Given the description of an element on the screen output the (x, y) to click on. 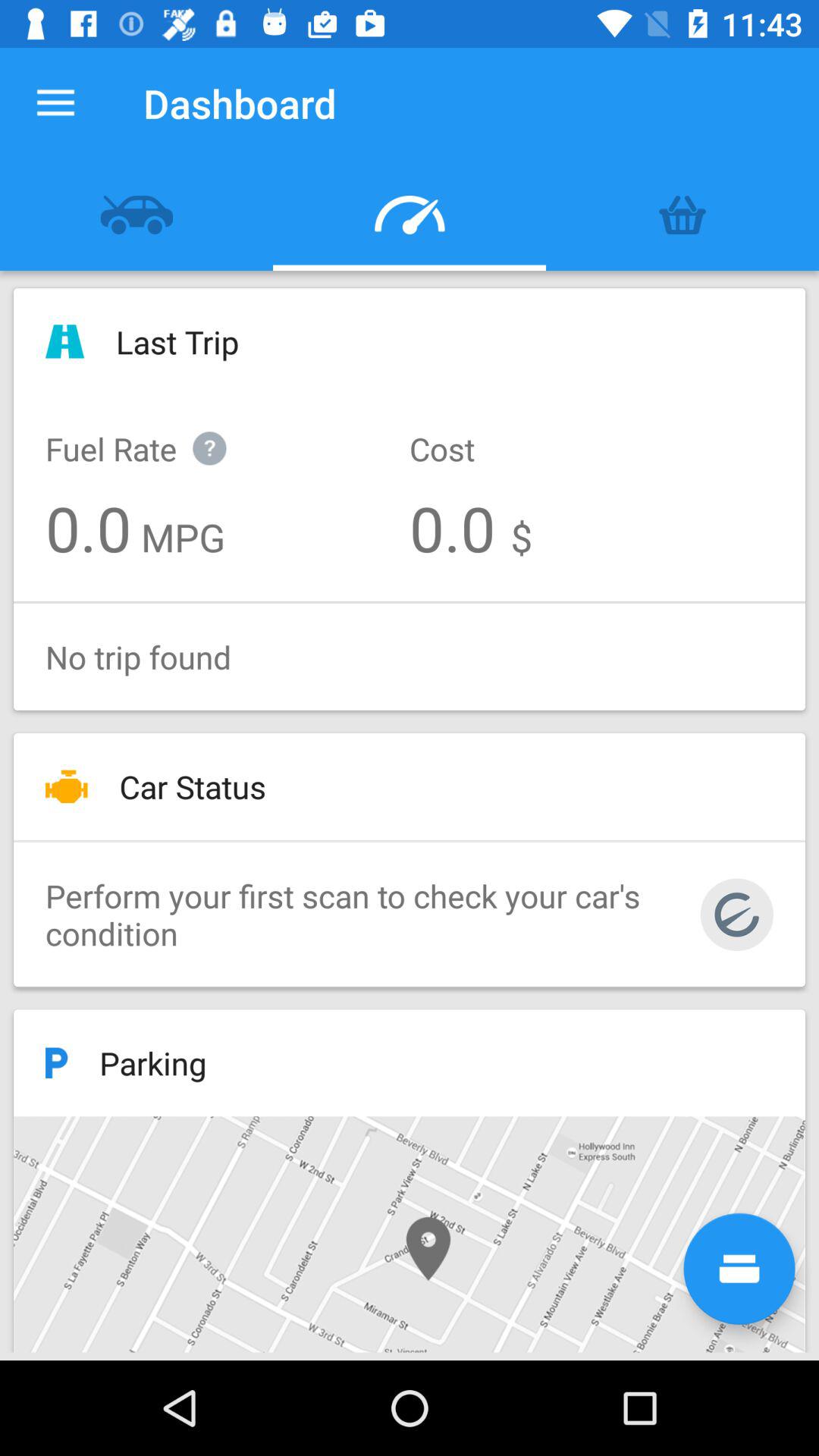
turn off icon to the left of the cost icon (151, 432)
